Given the description of an element on the screen output the (x, y) to click on. 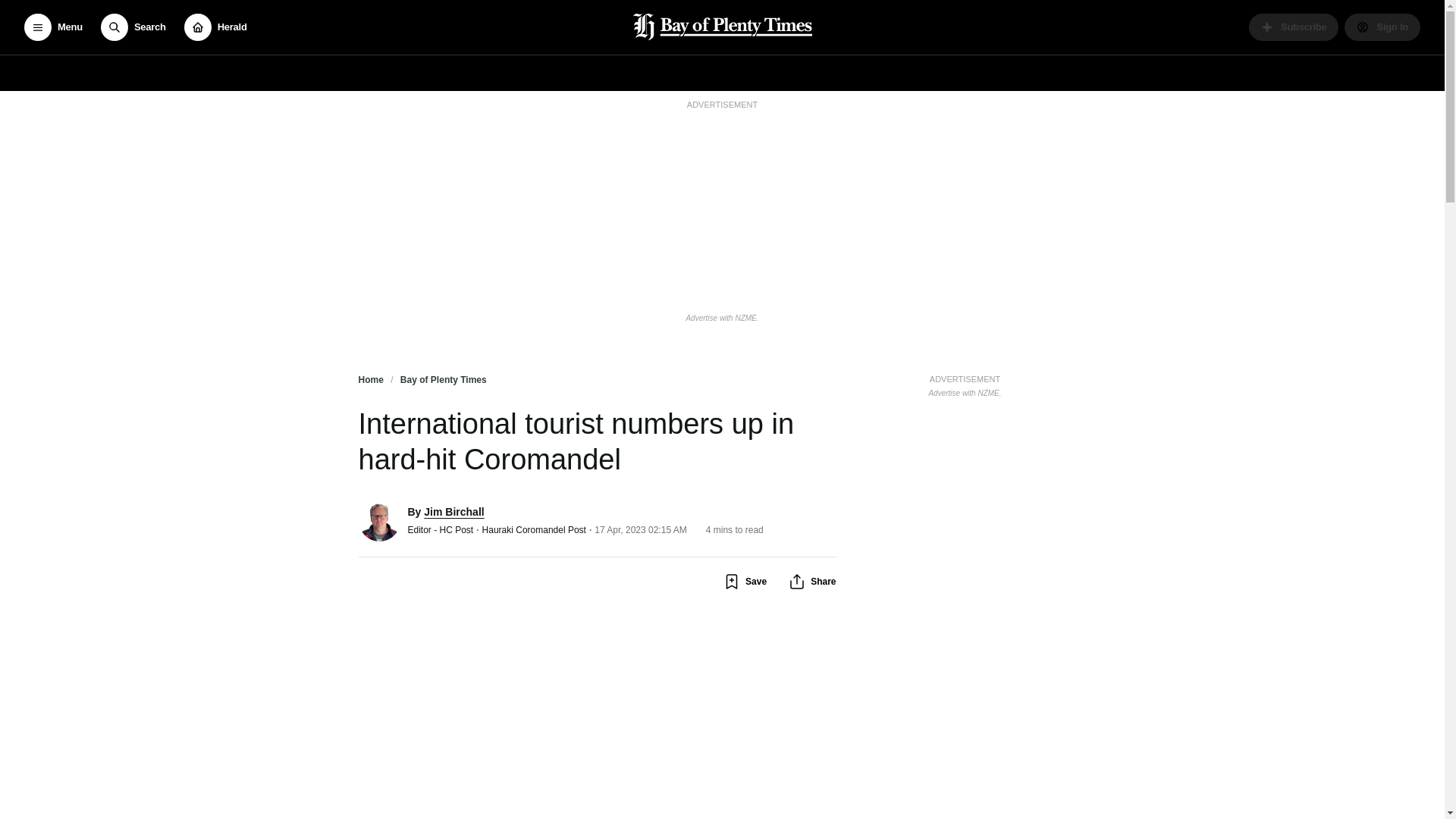
Search (132, 26)
Sign In (1382, 26)
Menu (53, 26)
Herald (215, 26)
Manage your account (1382, 26)
Subscribe (1294, 26)
